Given the description of an element on the screen output the (x, y) to click on. 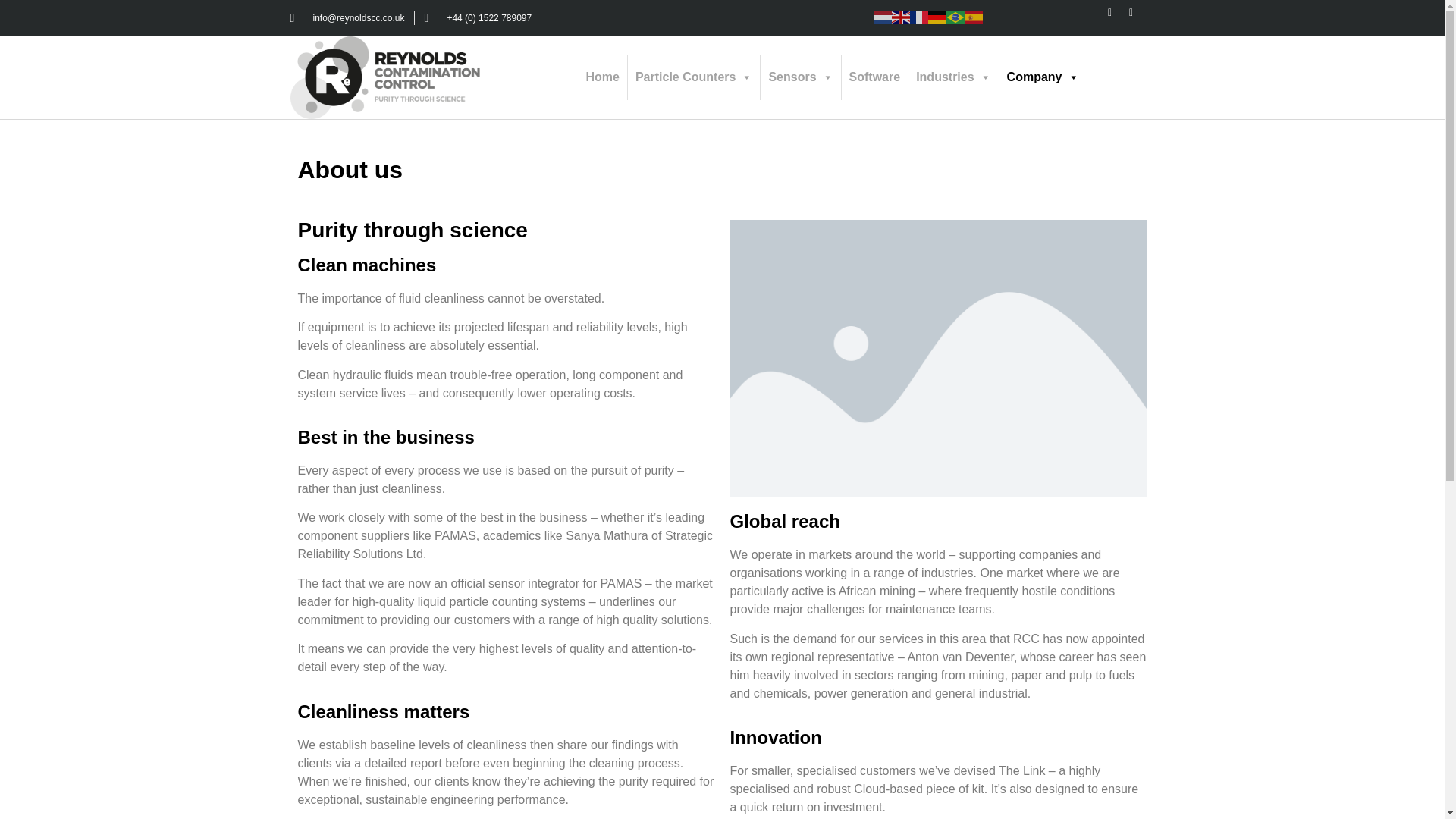
Portuguese (954, 15)
Dutch (882, 15)
French (919, 15)
German (937, 15)
Particle Counters (693, 76)
English (900, 15)
Spanish (972, 15)
Home (602, 76)
